Given the description of an element on the screen output the (x, y) to click on. 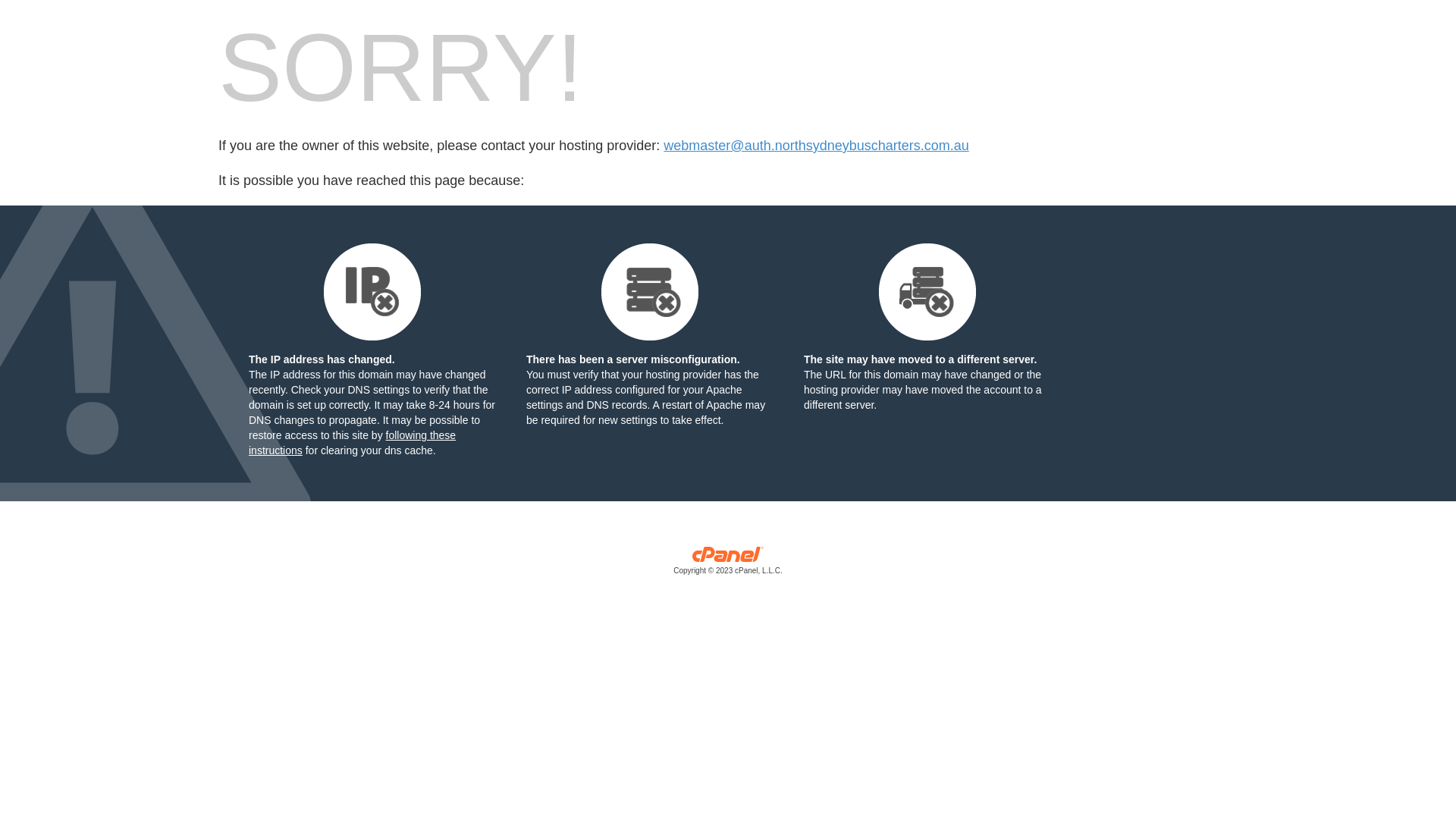
following these instructions Element type: text (351, 442)
webmaster@auth.northsydneybuscharters.com.au Element type: text (815, 145)
